Given the description of an element on the screen output the (x, y) to click on. 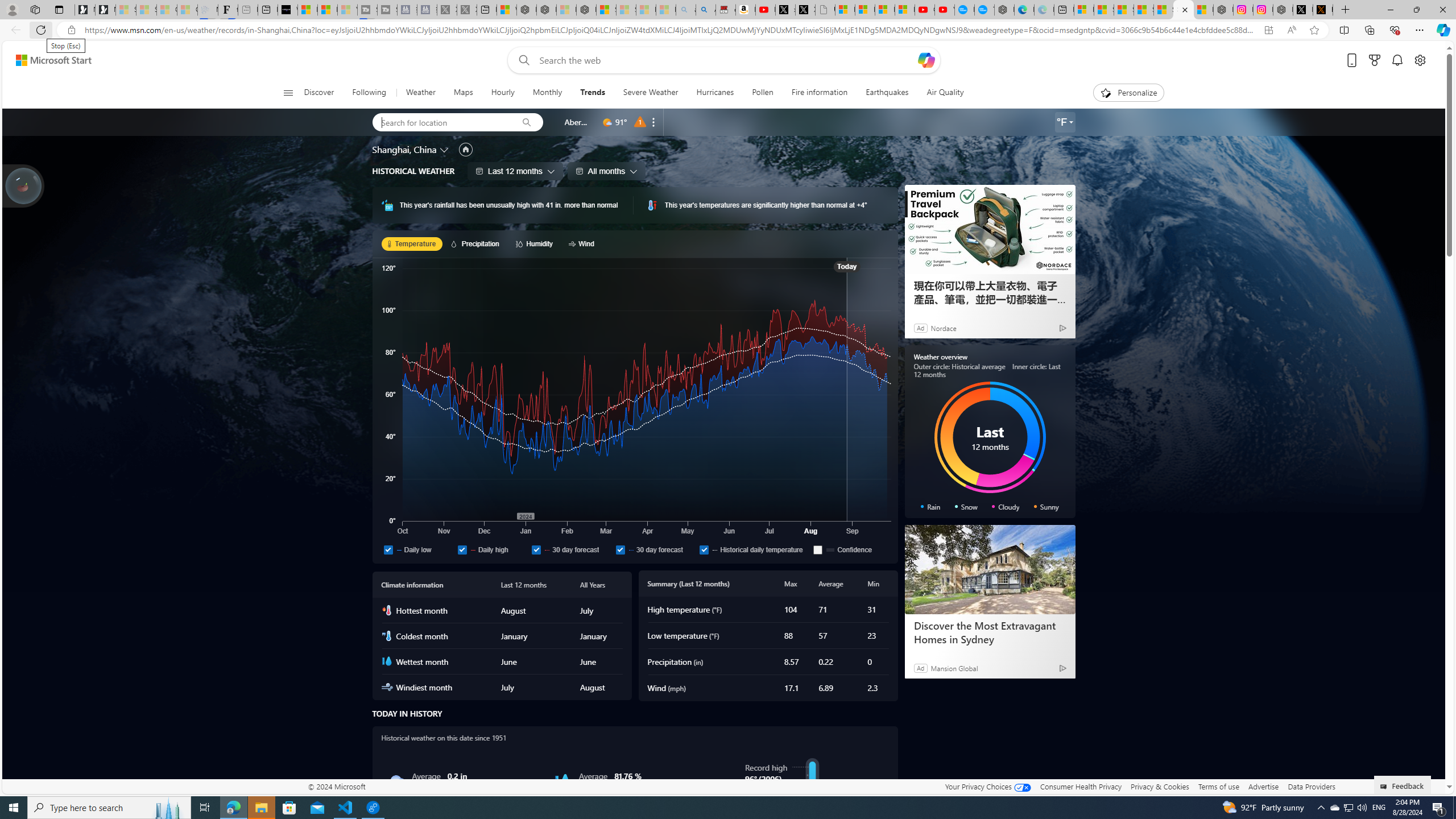
Severe Weather (650, 92)
Set as primary location (465, 149)
Fire information (819, 92)
Maps (462, 92)
Nordace (@NordaceOfficial) / X (1302, 9)
Open Copilot (926, 59)
Read aloud this page (Ctrl+Shift+U) (1291, 29)
Skip to footer (46, 59)
Skip to content (49, 59)
Data Providers (1311, 785)
Terms of use (1218, 786)
Day 1: Arriving in Yemen (surreal to be here) - YouTube (765, 9)
The most popular Google 'how to' searches (983, 9)
